Given the description of an element on the screen output the (x, y) to click on. 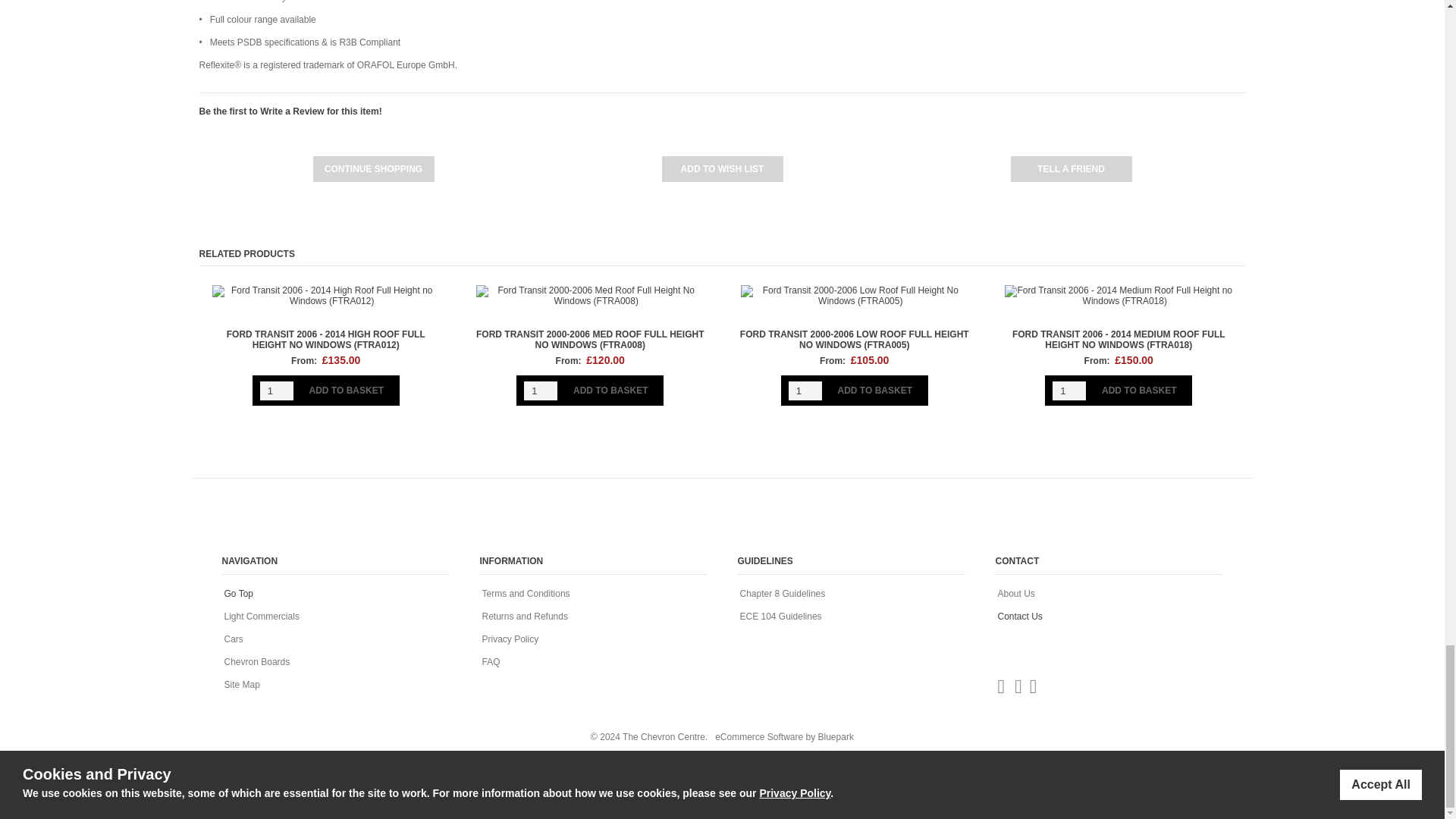
ADD TO BASKET (875, 390)
ADD TO BASKET (346, 390)
Write a Review (291, 111)
1 (1069, 390)
TELL A FRIEND (1070, 168)
CONTINUE SHOPPING (373, 168)
ADD TO BASKET (610, 390)
1 (805, 390)
ADD TO WISH LIST (722, 168)
1 (540, 390)
1 (277, 390)
